Given the description of an element on the screen output the (x, y) to click on. 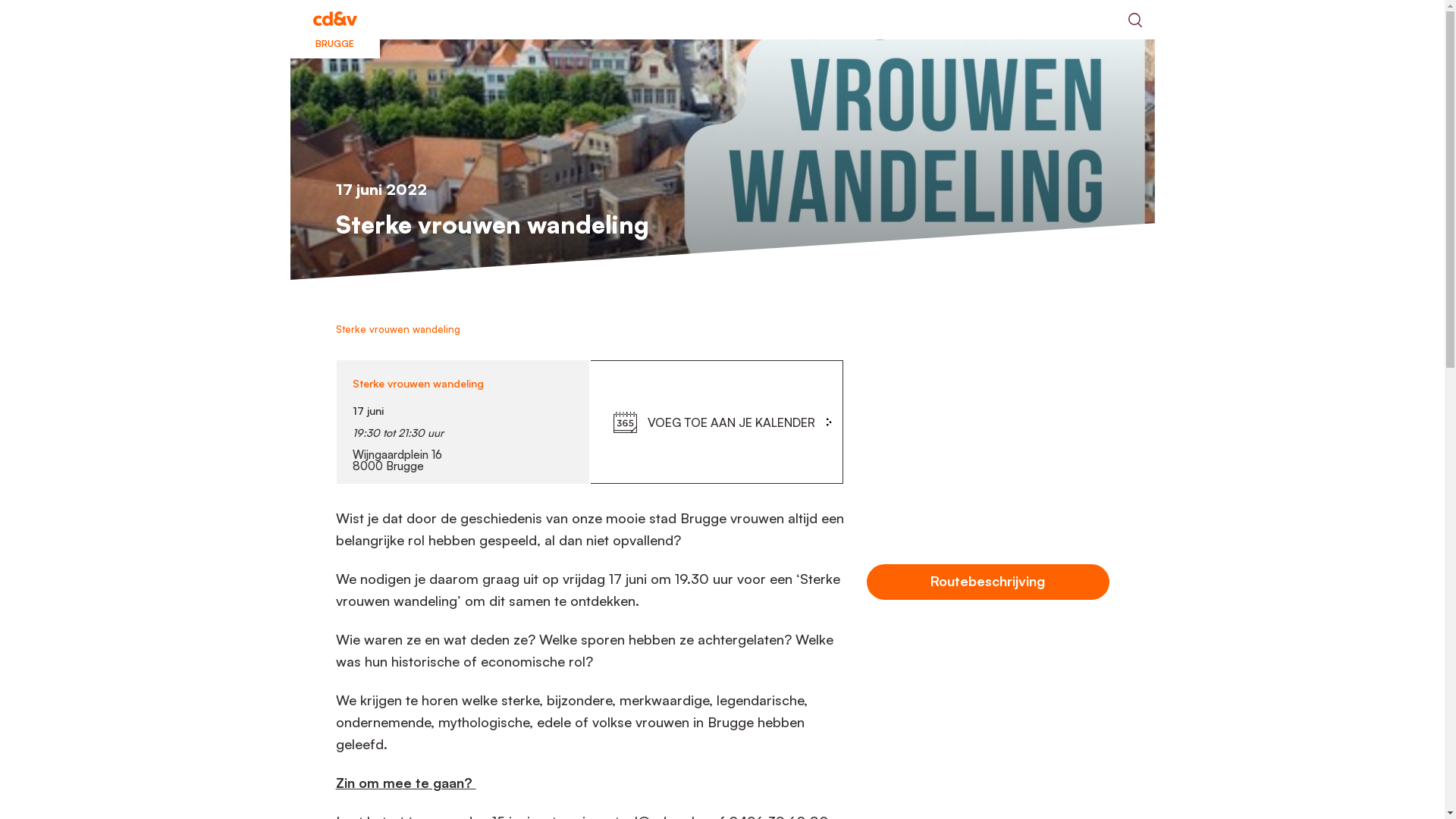
BRUGGE Element type: text (334, 19)
Routebeschrijving Element type: text (987, 581)
Search Element type: hover (1134, 19)
VOEG TOE AAN JE KALENDER Element type: text (731, 422)
